Given the description of an element on the screen output the (x, y) to click on. 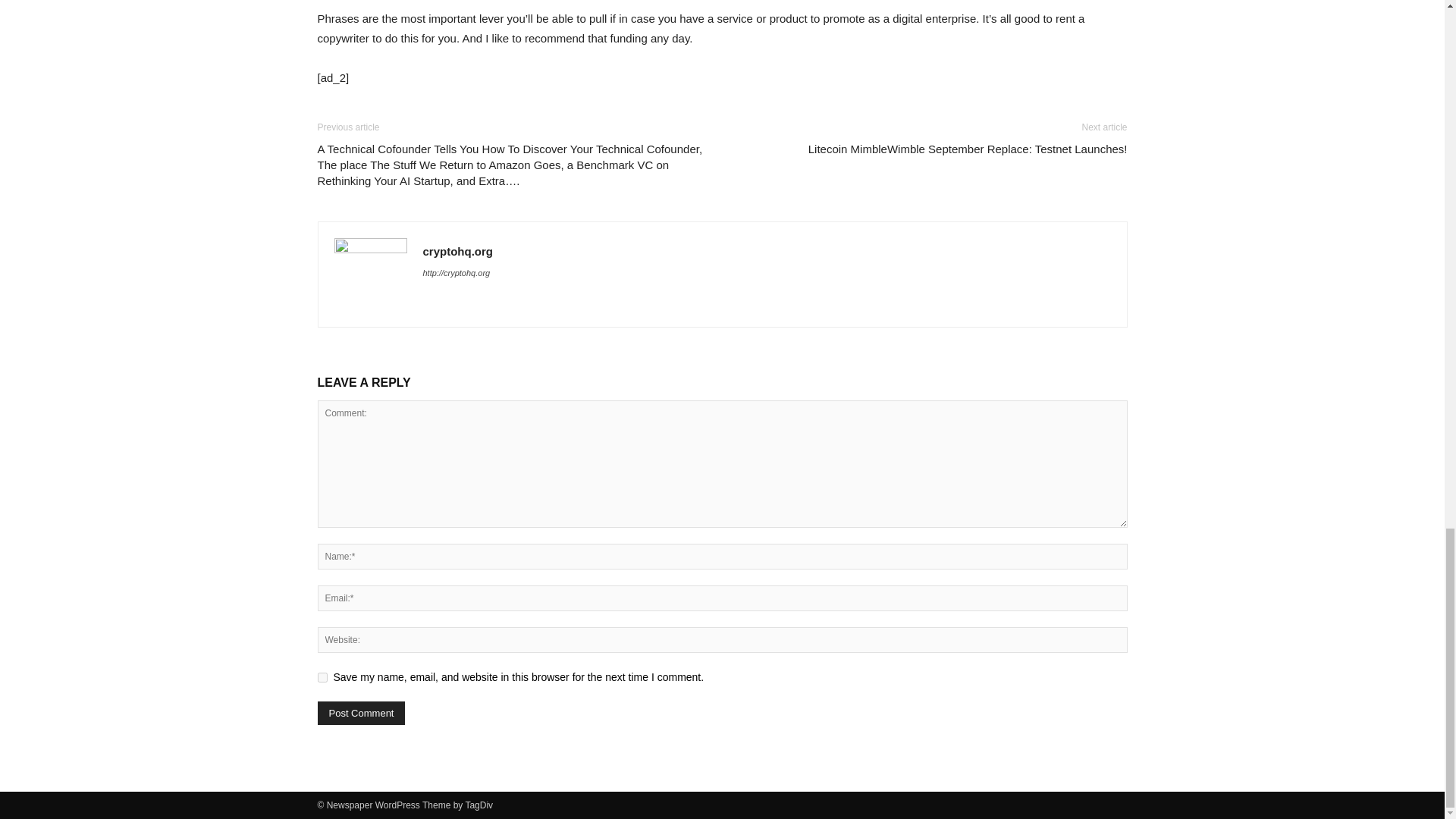
yes (321, 677)
Litecoin MimbleWimble September Replace: Testnet Launches! (967, 148)
Post Comment (360, 712)
cryptohq.org (458, 250)
Post Comment (360, 712)
